Given the description of an element on the screen output the (x, y) to click on. 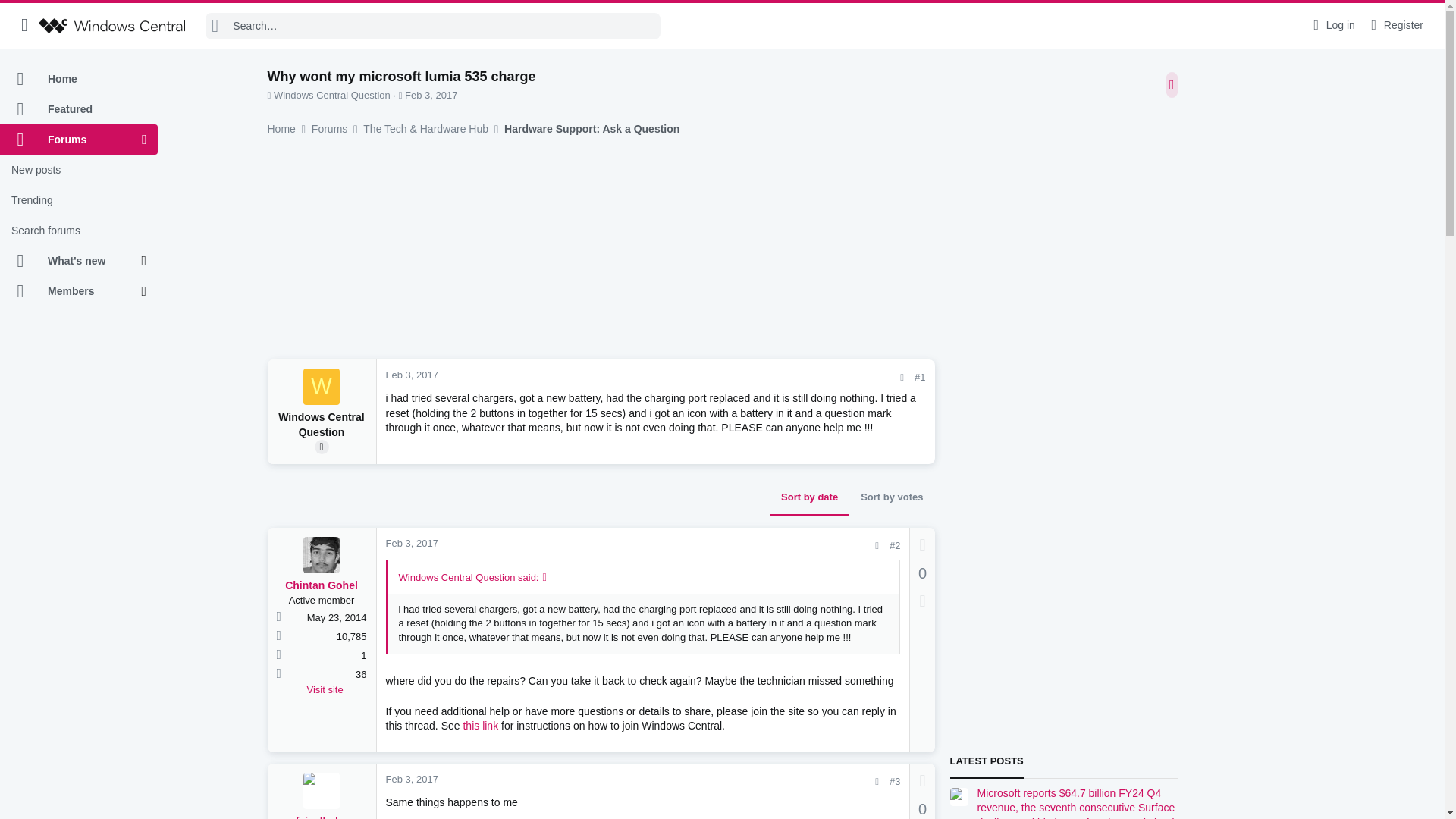
New posts (78, 169)
Home (78, 78)
Feb 3, 2017 at 12:54 PM (430, 94)
Search forums (78, 230)
Trending (78, 200)
Featured (78, 109)
Forums (70, 139)
What's new (70, 260)
Register (1395, 24)
Original poster (321, 446)
Log in (1332, 24)
Windows Central Question (320, 386)
Feb 3, 2017 at 12:54 PM (411, 374)
